Given the description of an element on the screen output the (x, y) to click on. 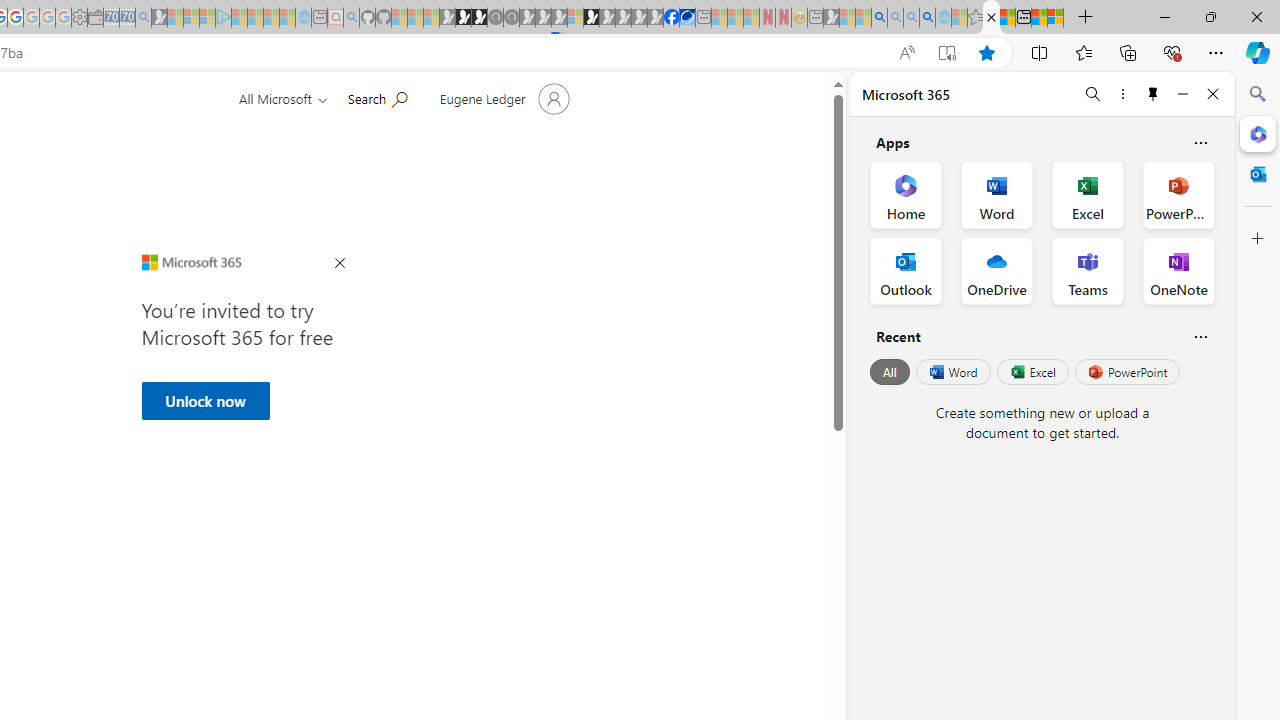
Bing Real Estate - Home sales and rental listings - Sleeping (143, 17)
MSN - Sleeping (831, 17)
Home Office App (906, 194)
Teams Office App (1087, 270)
Microsoft account | Privacy (1055, 17)
Search for help (377, 97)
Unpin side pane (1153, 93)
